Given the description of an element on the screen output the (x, y) to click on. 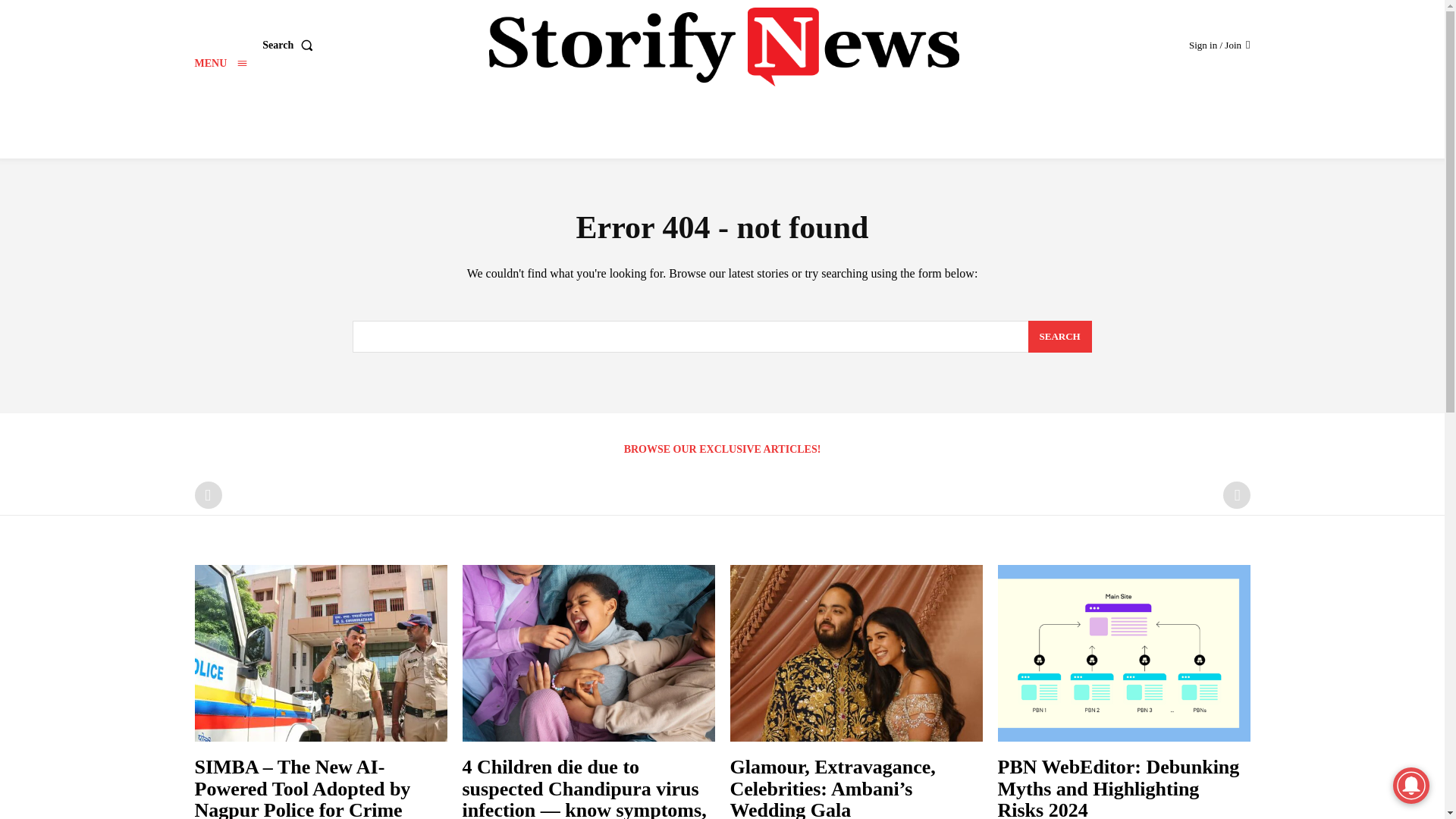
Storify News (724, 46)
PBN WebEditor: Debunking Myths and Highlighting Risks 2024 (1118, 787)
Storify News (724, 46)
Menu (220, 62)
PBN WebEditor: Debunking Myths and Highlighting Risks 2024 (1123, 653)
